Given the description of an element on the screen output the (x, y) to click on. 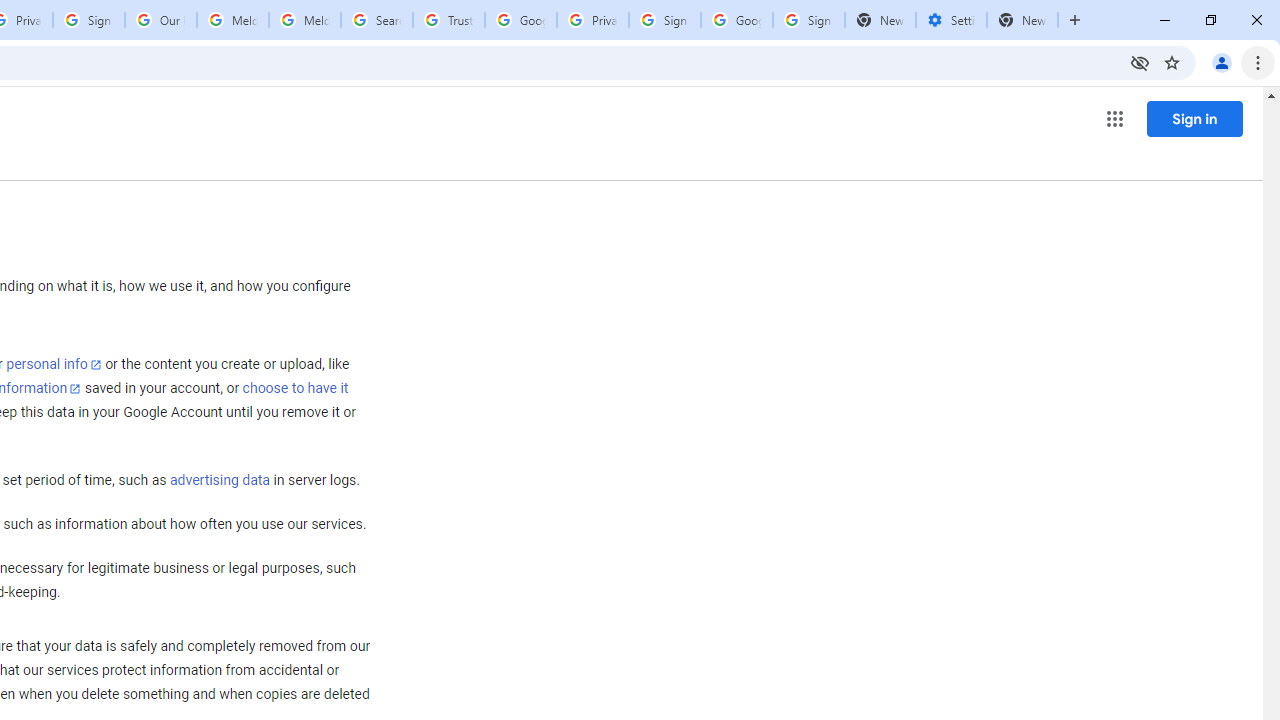
advertising data (219, 481)
Trusted Information and Content - Google Safety Center (449, 20)
Sign in - Google Accounts (664, 20)
